Given the description of an element on the screen output the (x, y) to click on. 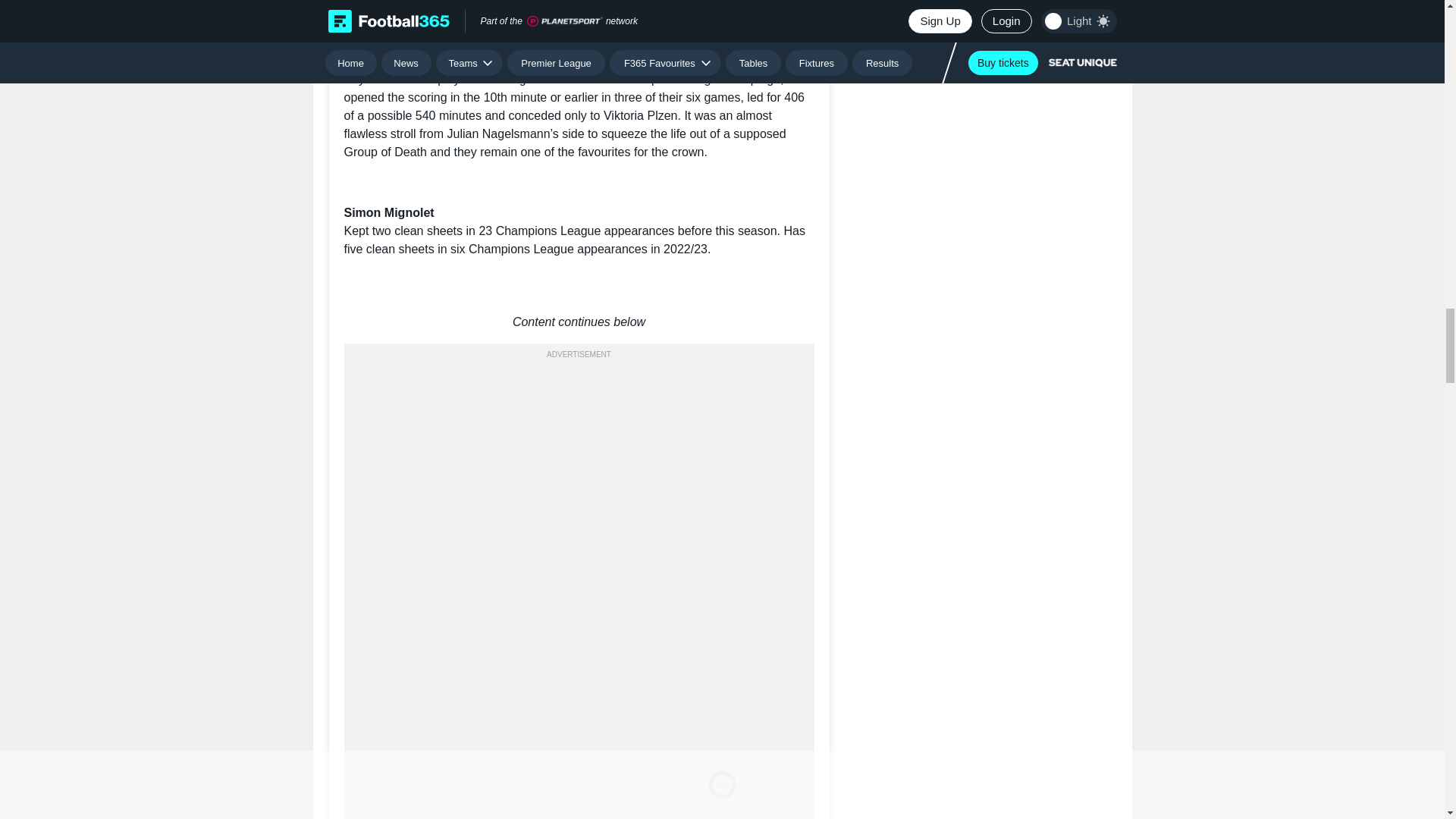
Content continues below (578, 322)
